Given the description of an element on the screen output the (x, y) to click on. 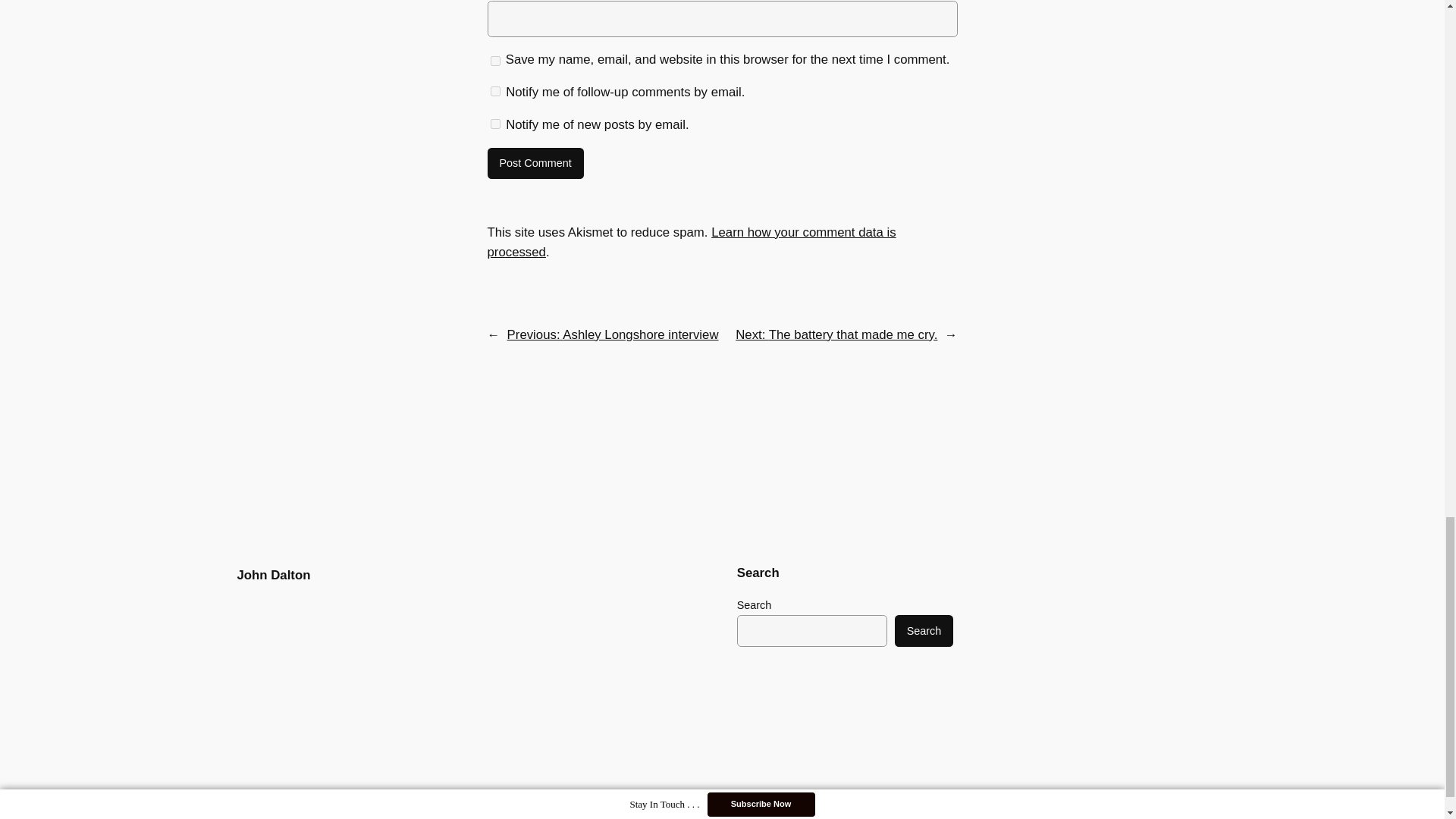
John Dalton (272, 575)
Learn how your comment data is processed (690, 242)
Search (924, 631)
Next: The battery that made me cry. (836, 334)
subscribe (494, 123)
Post Comment (534, 163)
subscribe (494, 91)
Previous: Ashley Longshore interview (612, 334)
Post Comment (534, 163)
